Given the description of an element on the screen output the (x, y) to click on. 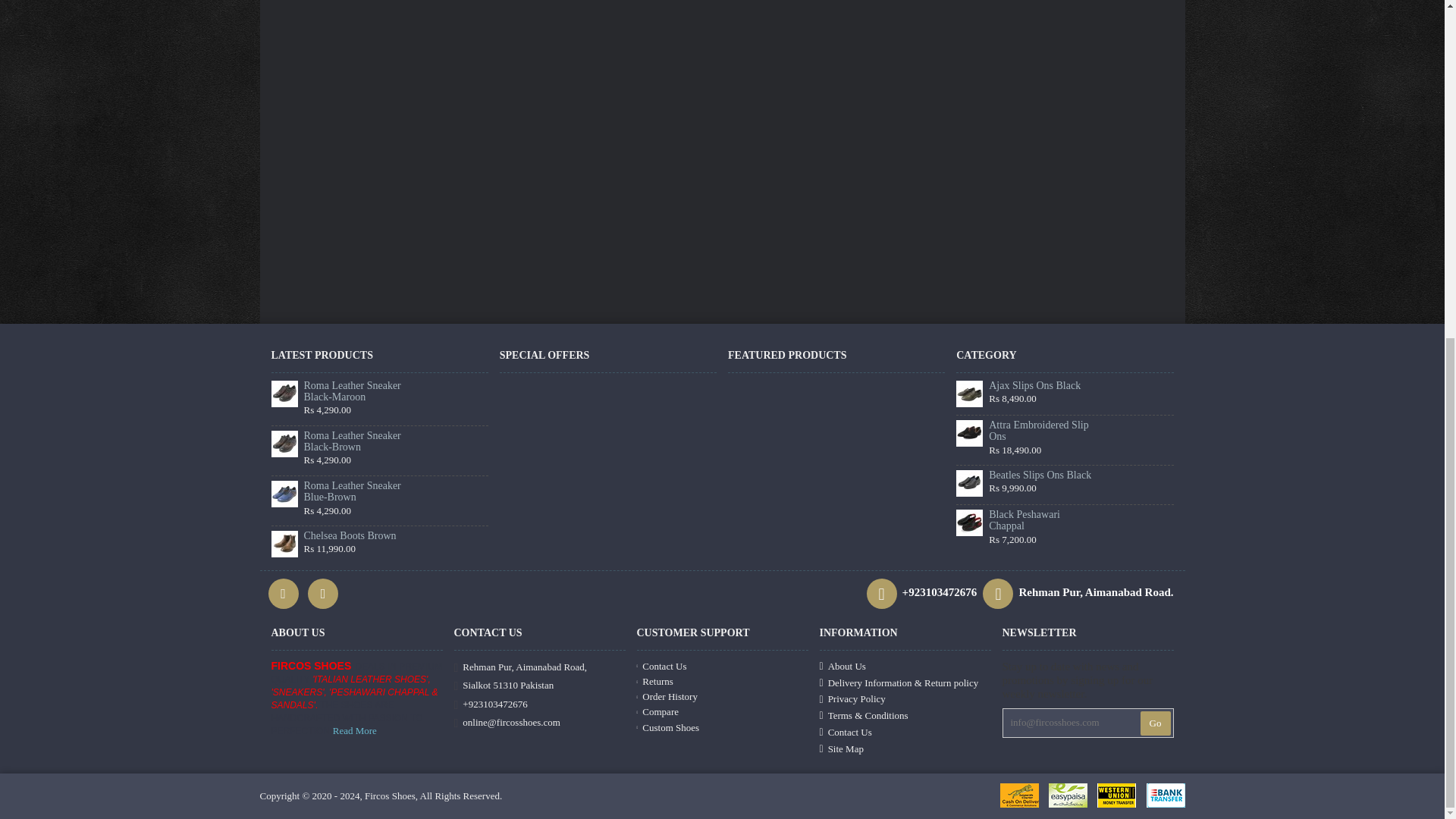
Beatles Slips Ons Black (969, 483)
Ajax Slips Ons Black (969, 393)
Roma Leather Sneaker Black-Brown (284, 443)
Attra Embroidered Slip Ons (969, 433)
Roma Leather Sneaker Blue-Brown (284, 493)
Roma Leather Sneaker Black-Maroon (284, 393)
Chelsea Boots Brown (284, 543)
Black Peshawari Chappal (969, 522)
